Given the description of an element on the screen output the (x, y) to click on. 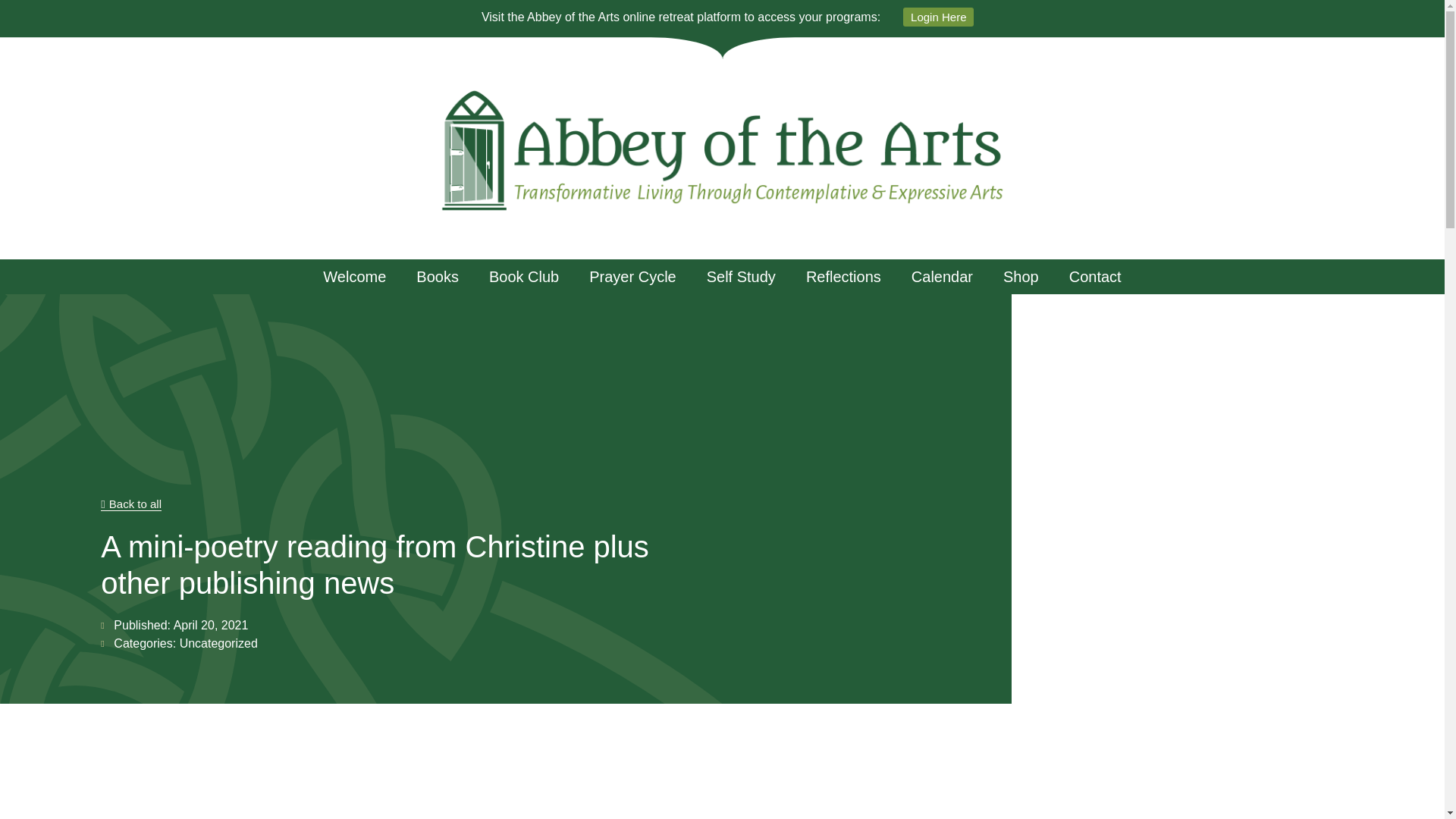
Login Here (938, 16)
Welcome (354, 276)
Books (437, 276)
